Given the description of an element on the screen output the (x, y) to click on. 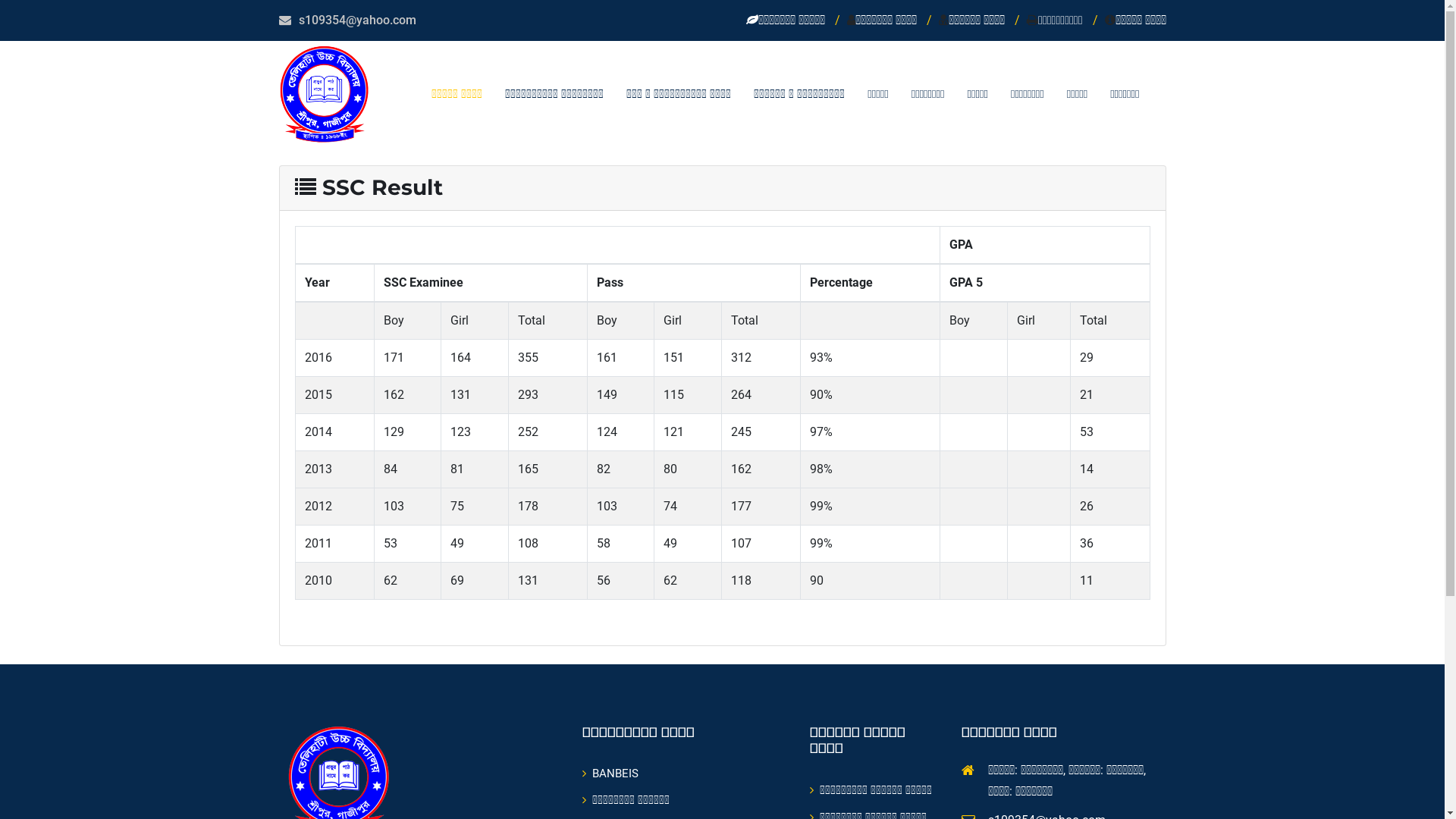
s109354@yahoo.com Element type: text (357, 20)
Telihaty High School Element type: hover (324, 93)
BANBEIS Element type: text (610, 773)
